Given the description of an element on the screen output the (x, y) to click on. 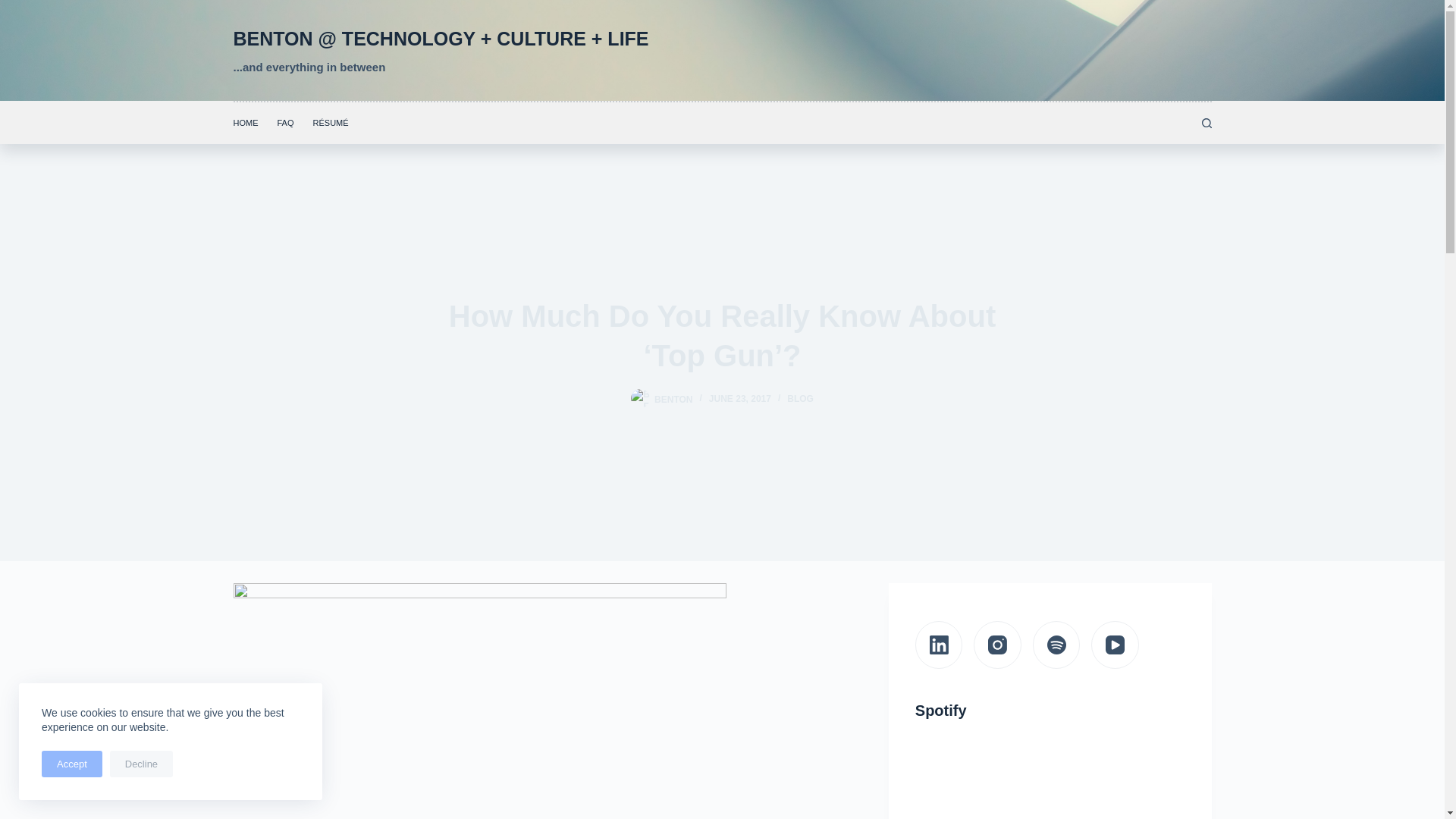
Posts by benton (673, 398)
Decline (141, 764)
Skip to content (15, 7)
BLOG (800, 398)
BENTON (673, 398)
Accept (71, 764)
